Given the description of an element on the screen output the (x, y) to click on. 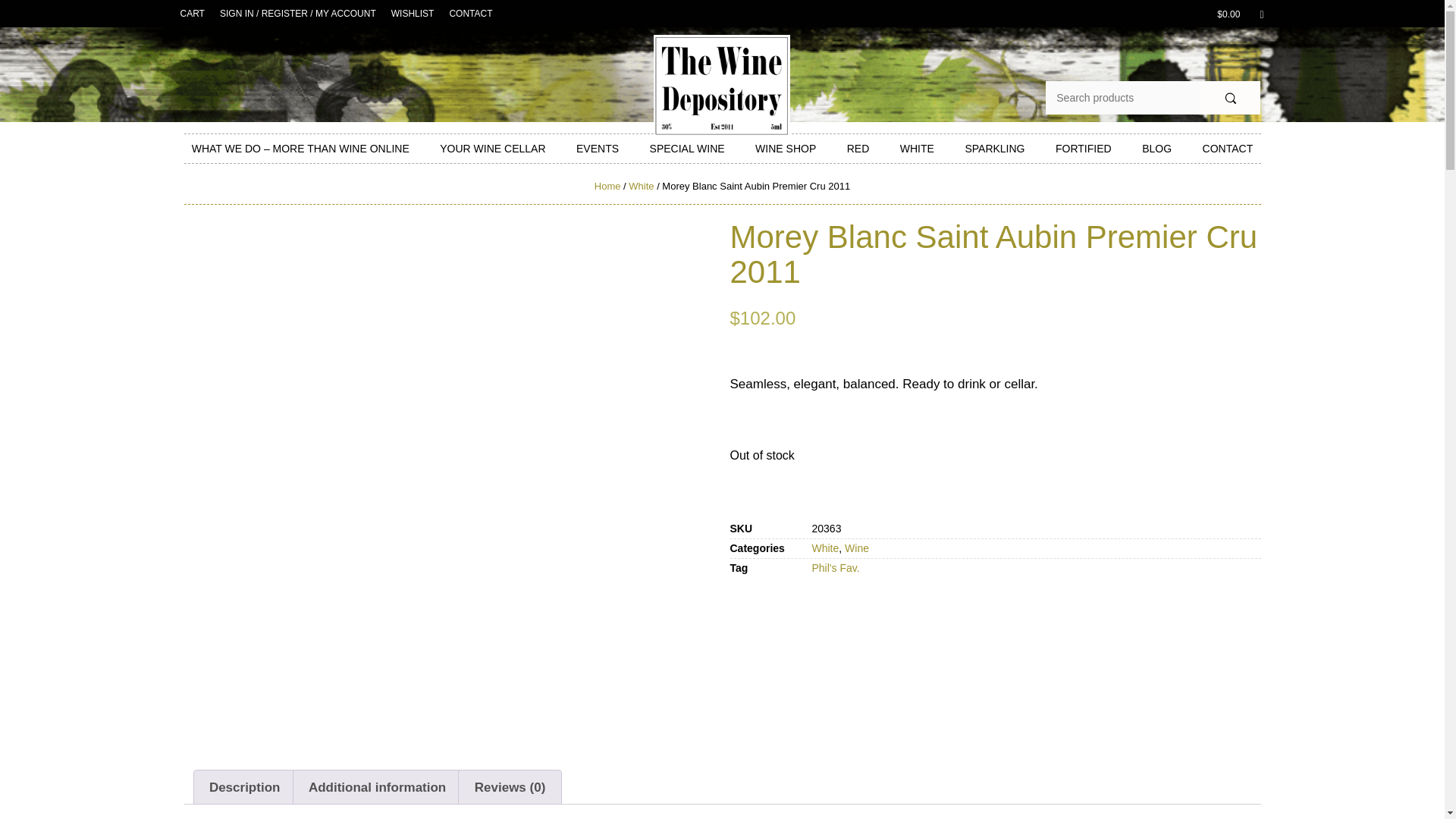
CART (192, 13)
CONTACT (470, 13)
SPECIAL WINE (687, 148)
Search products (1122, 97)
YOUR WINE CELLAR (492, 148)
Search (1229, 97)
WISHLIST (412, 13)
Search (1229, 97)
EVENTS (598, 148)
